Given the description of an element on the screen output the (x, y) to click on. 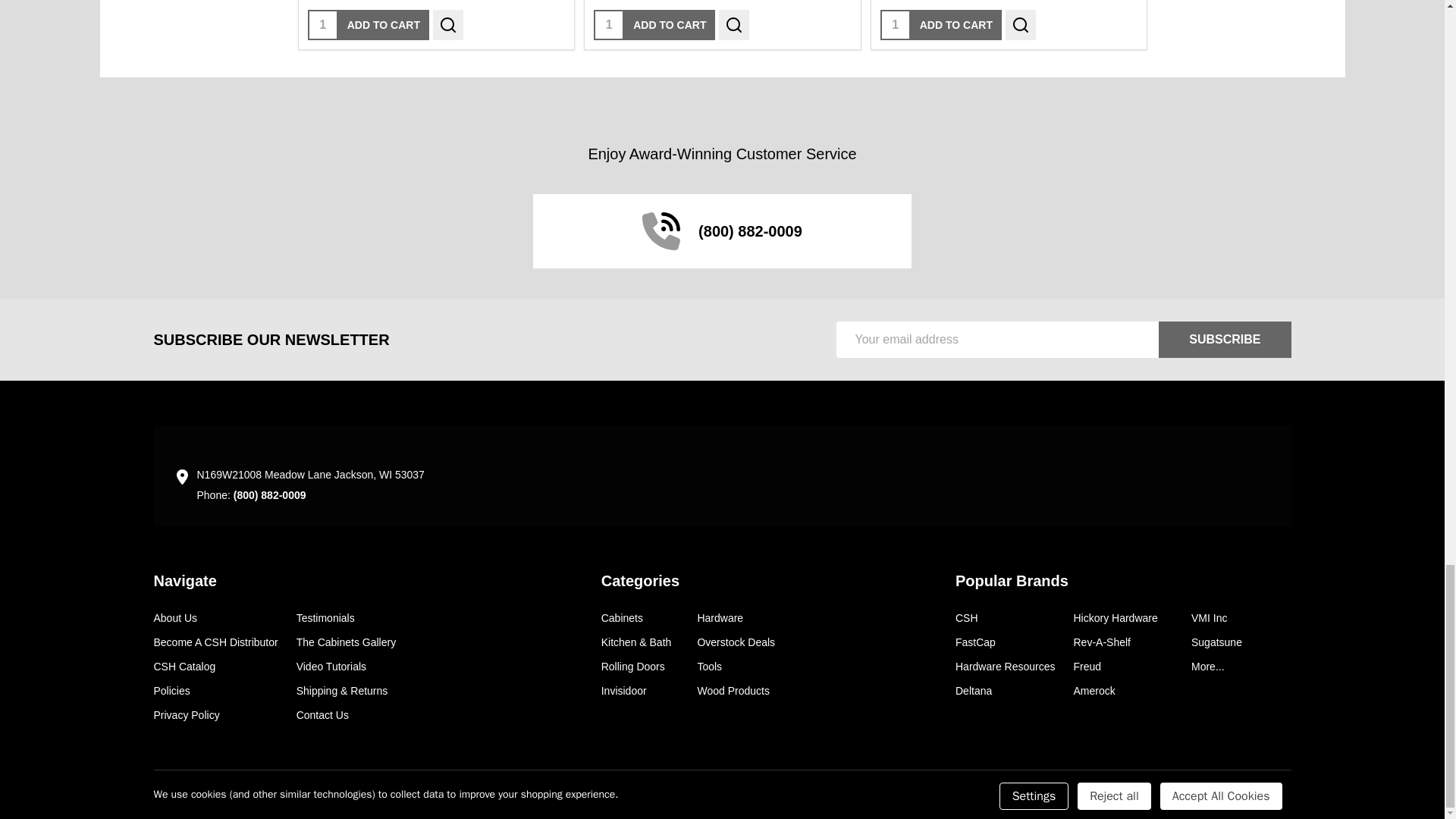
1 (609, 24)
1 (894, 24)
1 (322, 24)
